Given the description of an element on the screen output the (x, y) to click on. 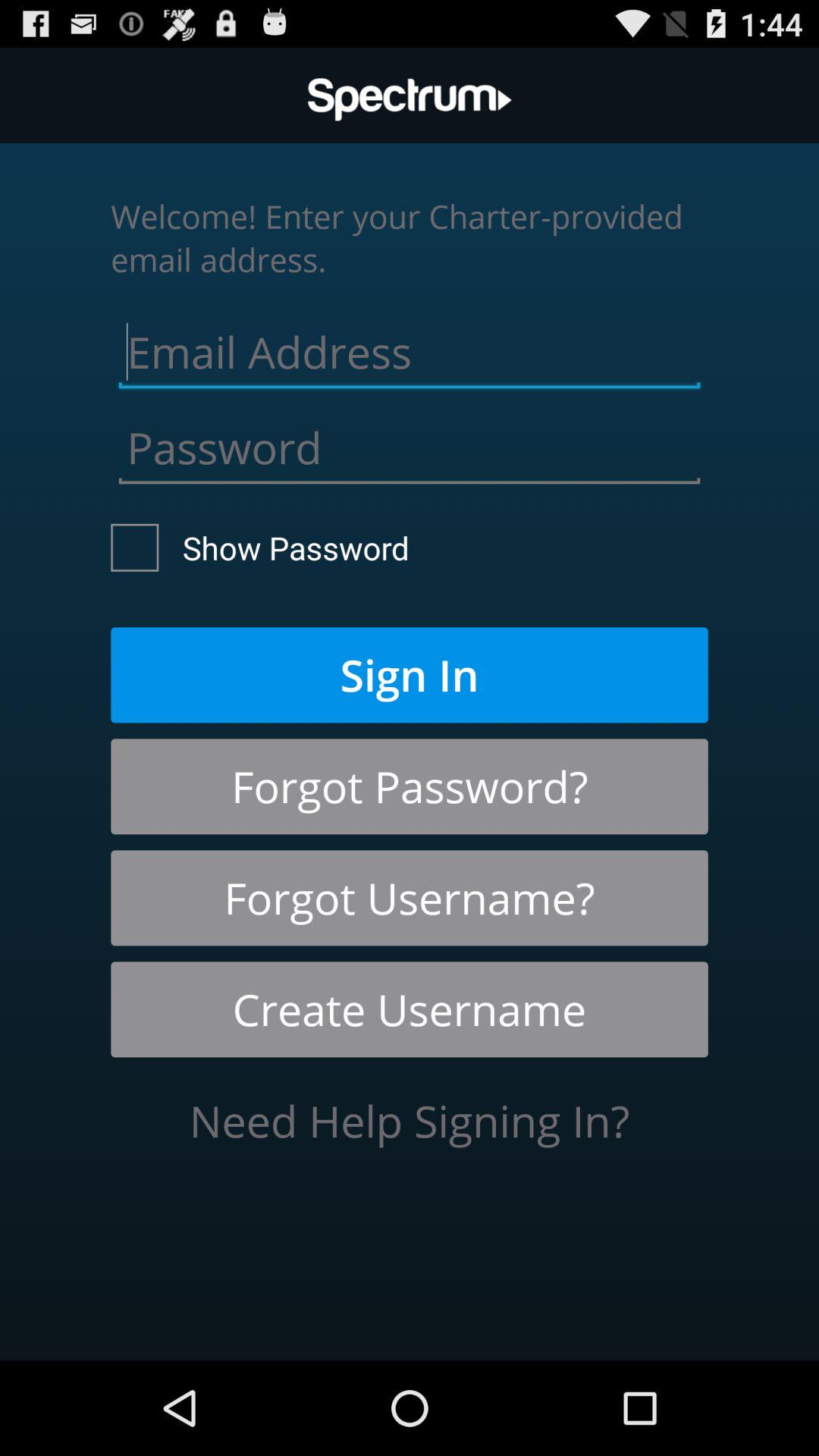
choose item on the left (259, 547)
